Given the description of an element on the screen output the (x, y) to click on. 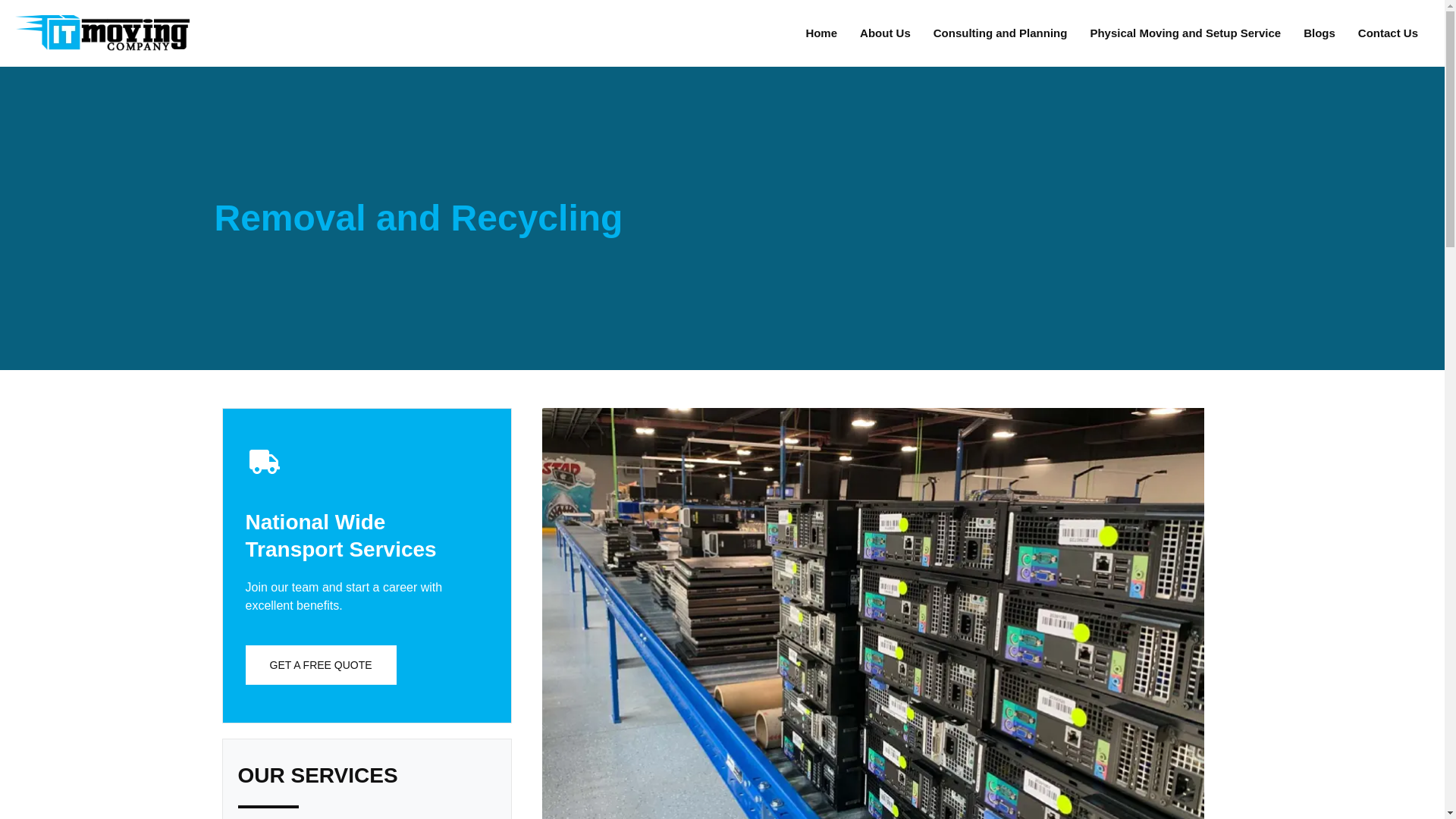
Physical Moving and Setup Service (1185, 32)
Blogs (1319, 32)
Home (820, 32)
About Us (884, 32)
Consulting and Planning (999, 32)
Contact Us (1387, 32)
